Given the description of an element on the screen output the (x, y) to click on. 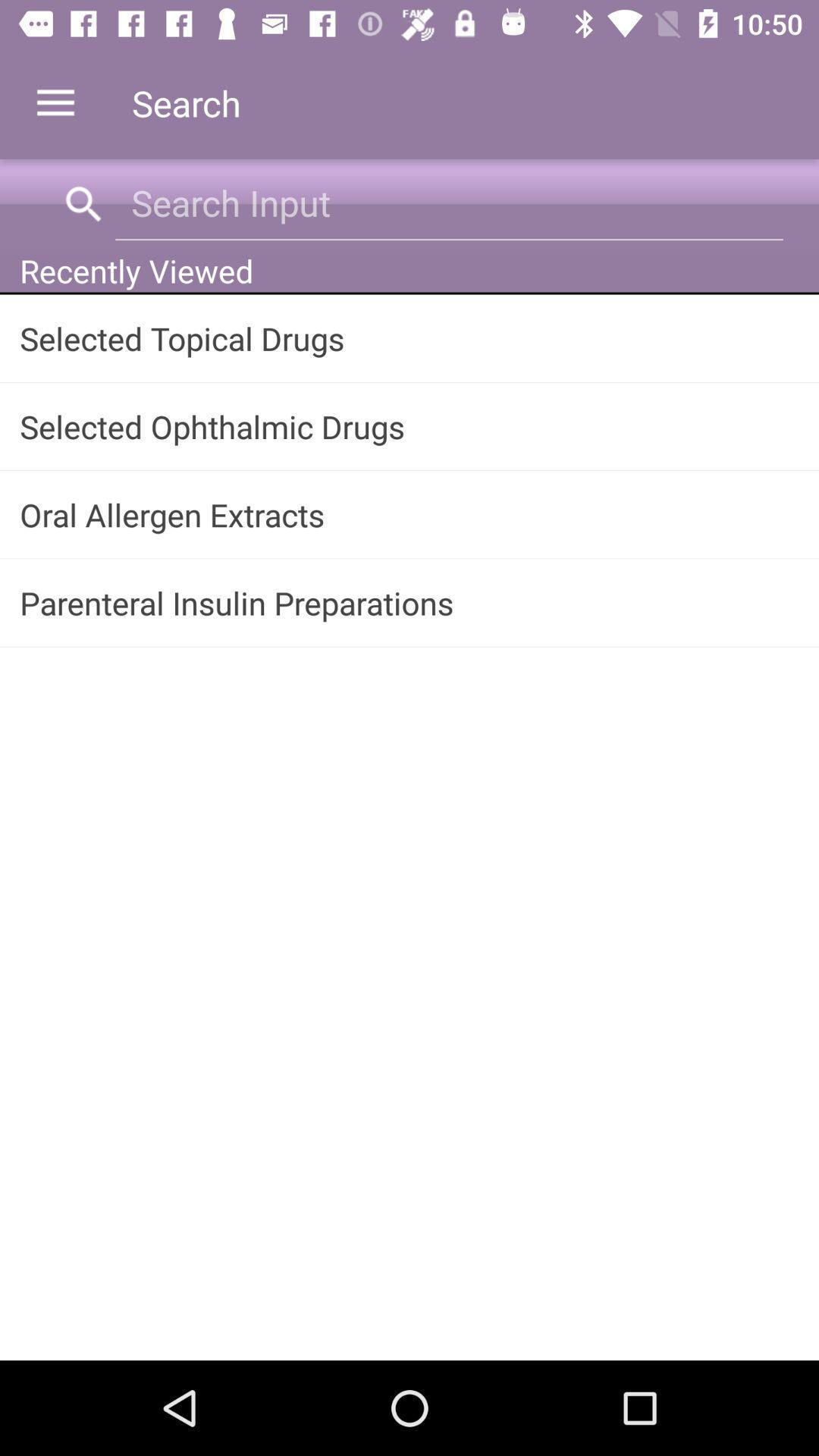
turn off icon above the oral allergen extracts item (409, 426)
